Given the description of an element on the screen output the (x, y) to click on. 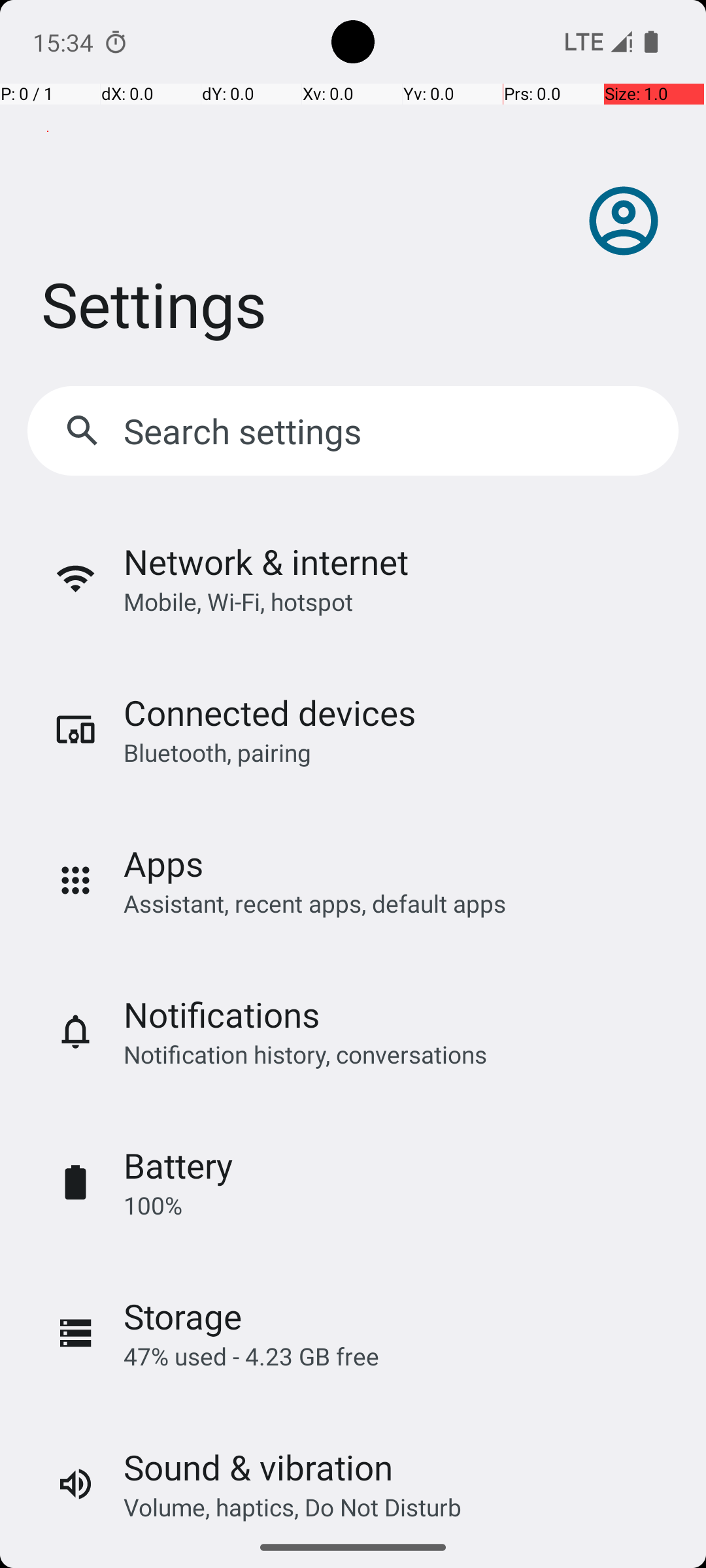
47% used - 4.23 GB free Element type: android.widget.TextView (251, 1355)
